Given the description of an element on the screen output the (x, y) to click on. 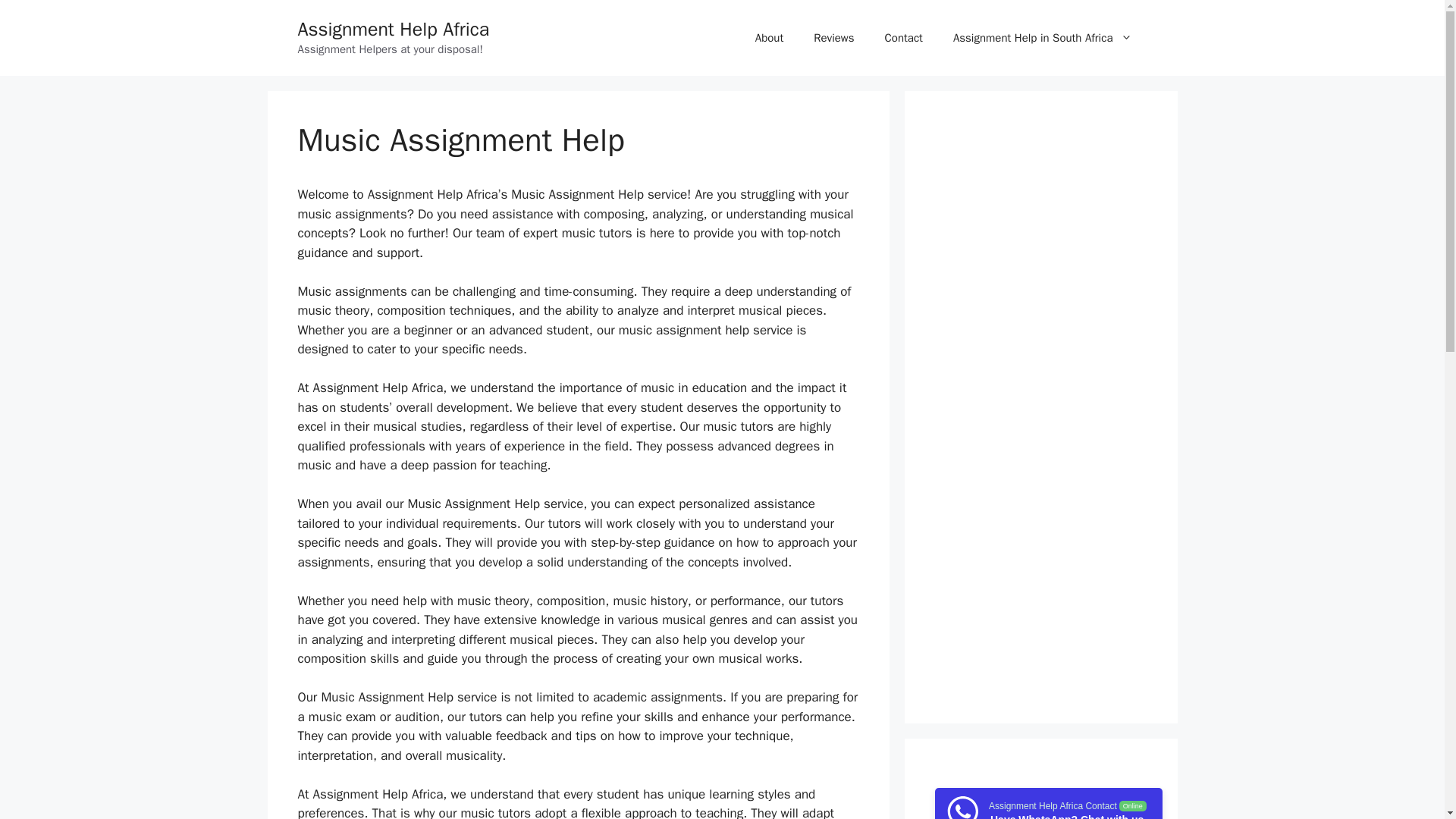
About (768, 37)
Contact (903, 37)
Reviews (833, 37)
Assignment Help in South Africa (1042, 37)
Assignment Help Africa (393, 28)
